Given the description of an element on the screen output the (x, y) to click on. 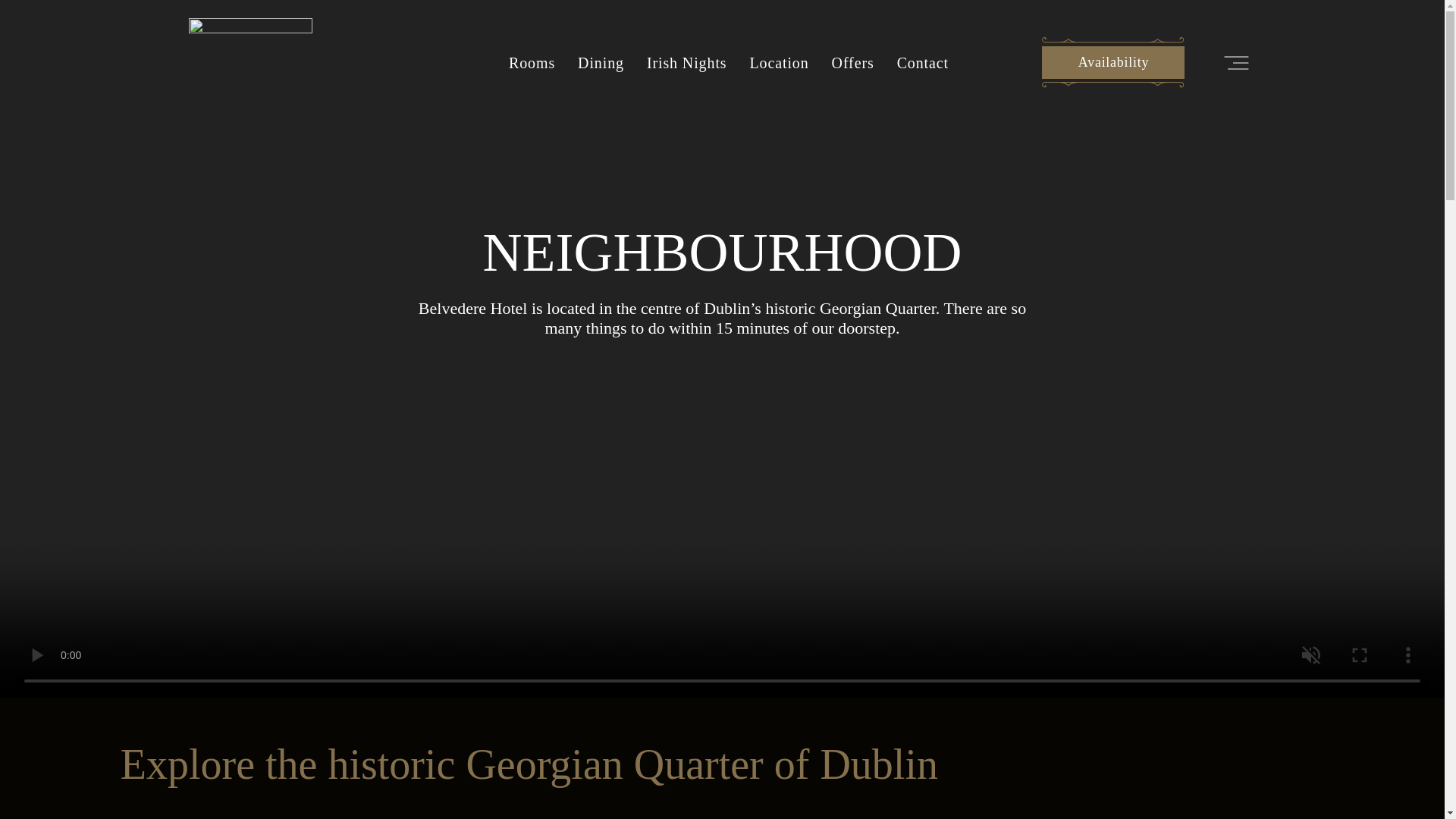
Dining (601, 62)
Offers (853, 62)
Availability (1113, 61)
Rooms (531, 62)
Contact (922, 62)
Irish Nights (686, 62)
Location (778, 62)
